Given the description of an element on the screen output the (x, y) to click on. 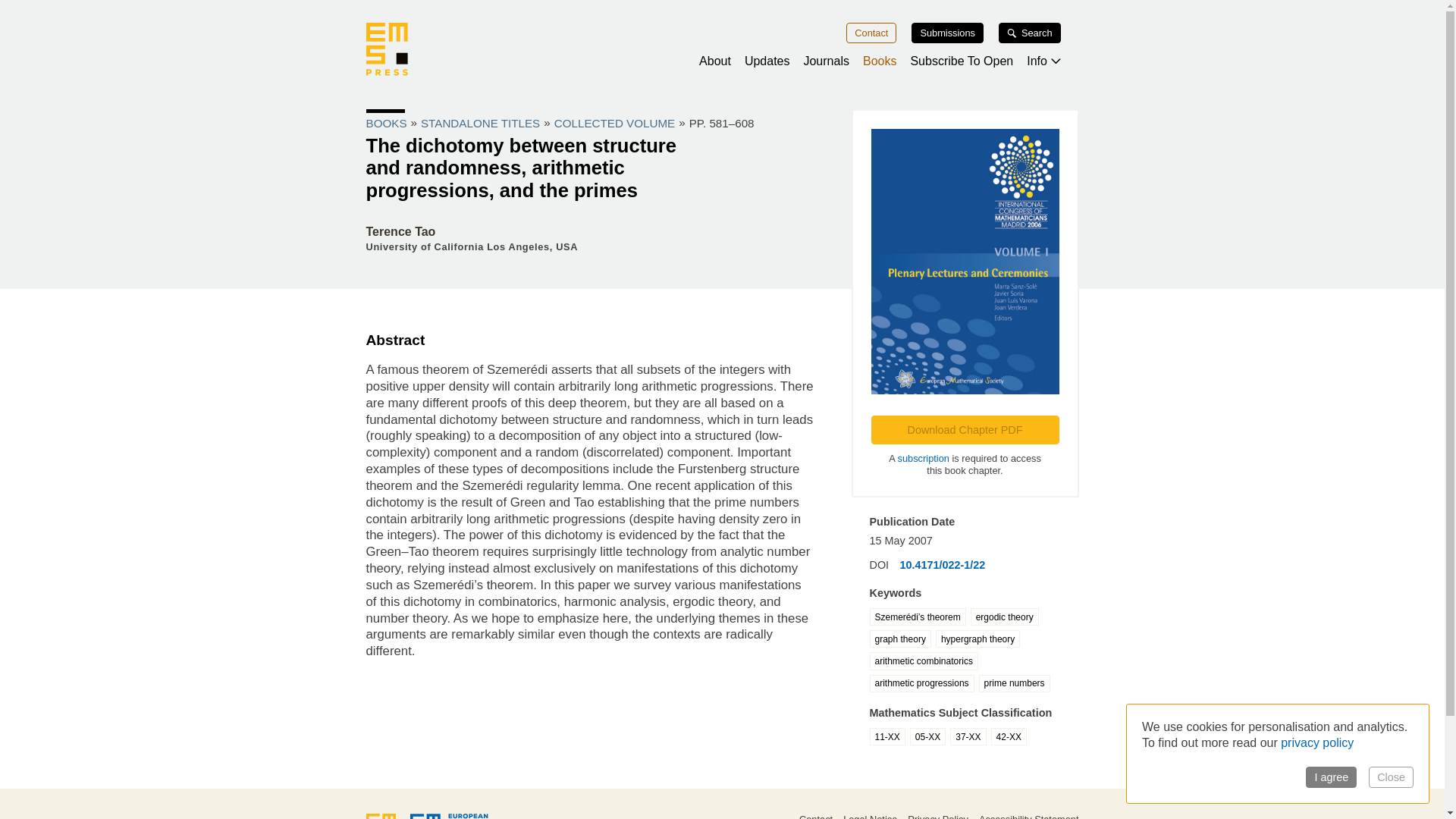
Privacy Policy (937, 816)
BOOKS (385, 123)
Contact (815, 816)
Footer Navigation (889, 816)
Close (1390, 776)
Journals (825, 60)
Legal Notice (869, 816)
I agree (1331, 776)
subscription (923, 458)
Download Chapter PDF (964, 429)
COLLECTED VOLUME (614, 123)
Subscribe To Open (961, 60)
Updates (767, 60)
Books (879, 60)
Contact (870, 32)
